Given the description of an element on the screen output the (x, y) to click on. 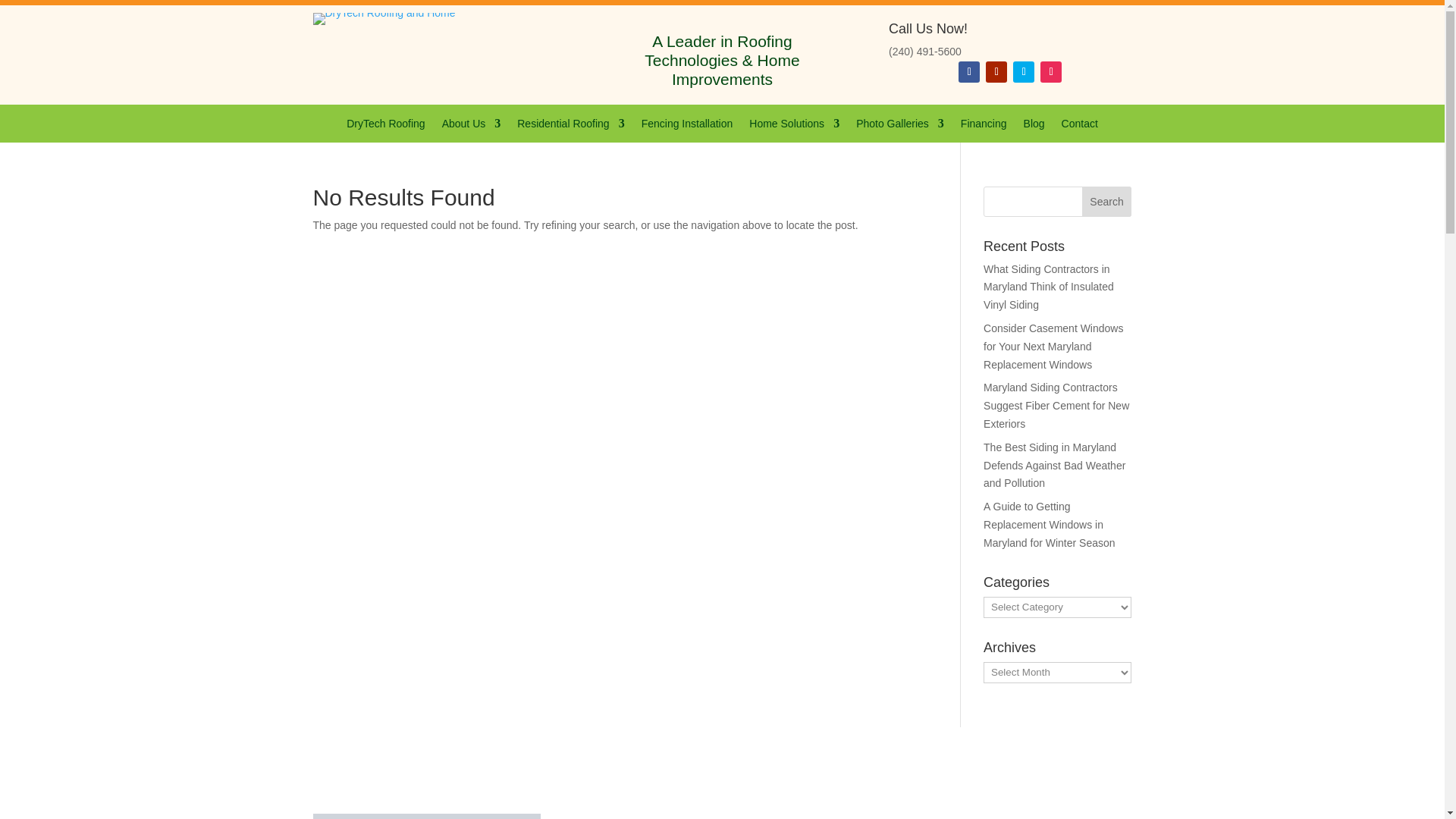
Follow on Facebook (968, 71)
About Us (471, 126)
Follow on X (1023, 71)
Home Solutions (794, 126)
Follow on Youtube (996, 71)
Fencing Installation (687, 126)
Contact (1079, 126)
DryTechLogo-Short (383, 19)
Search (1106, 201)
Follow on Instagram (1051, 71)
DryTech Roofing (385, 126)
Residential Roofing (570, 126)
